Given the description of an element on the screen output the (x, y) to click on. 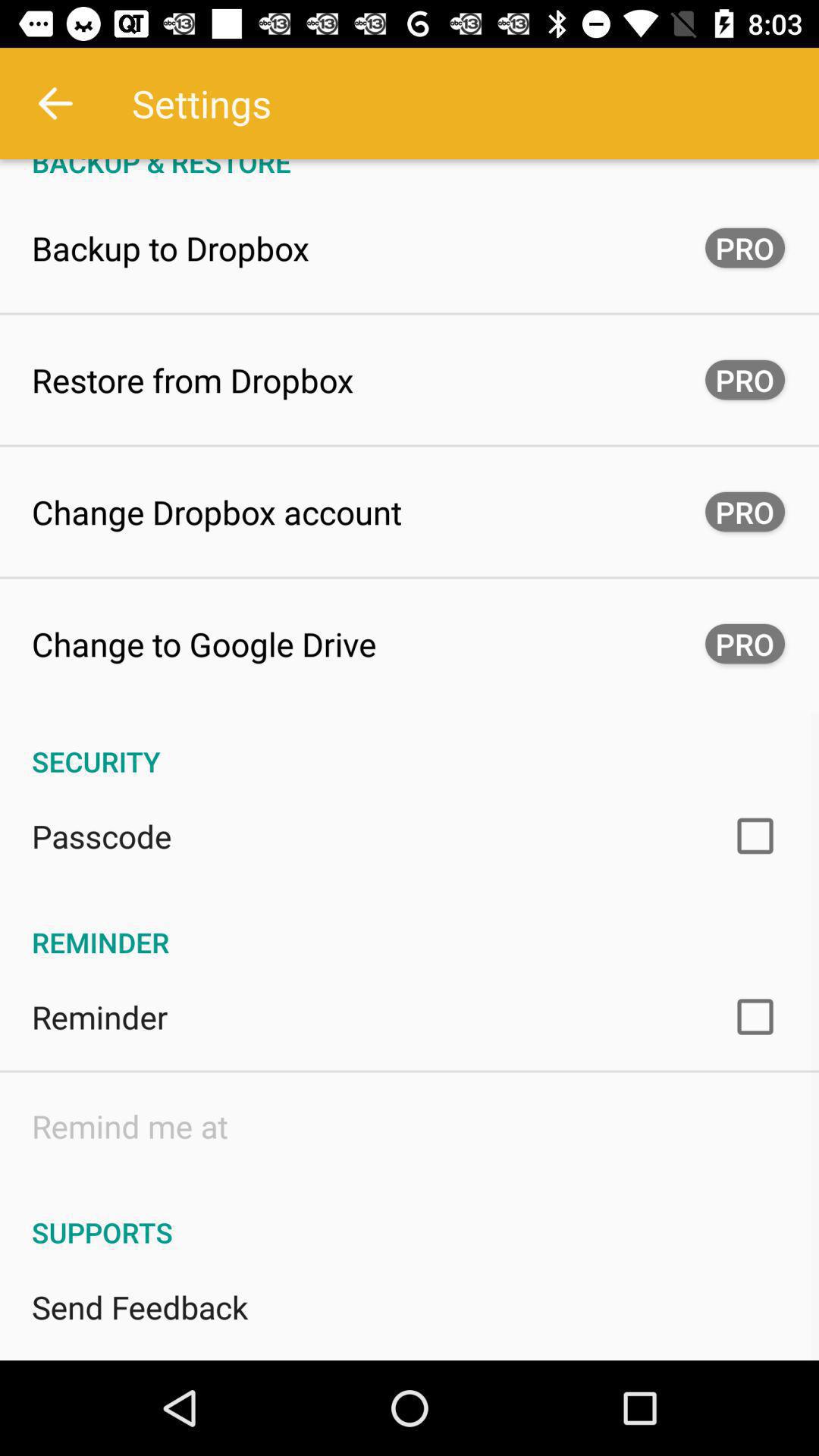
launch the icon below change to google app (409, 745)
